Given the description of an element on the screen output the (x, y) to click on. 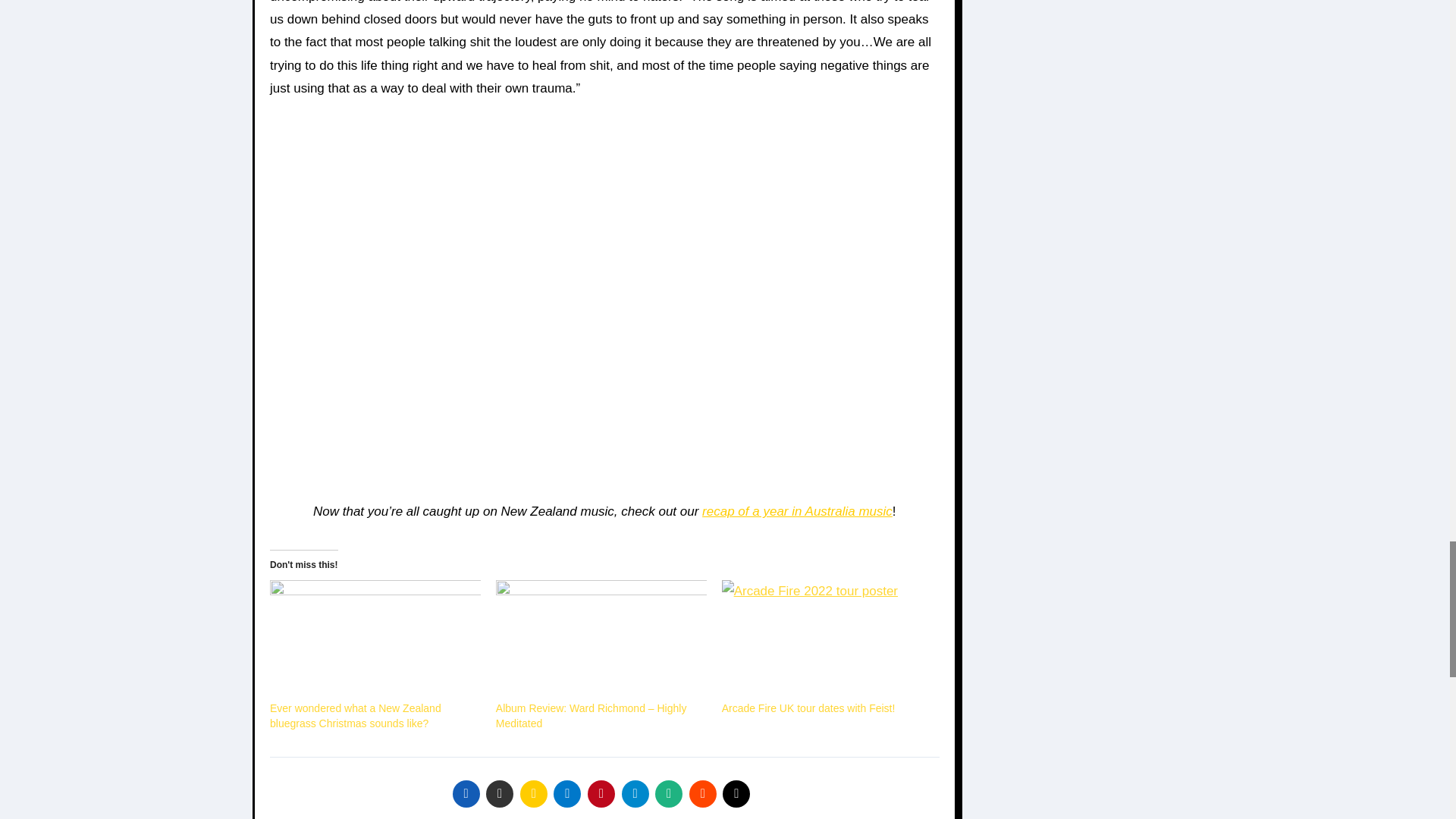
recap of a year in Australia music (796, 511)
